Given the description of an element on the screen output the (x, y) to click on. 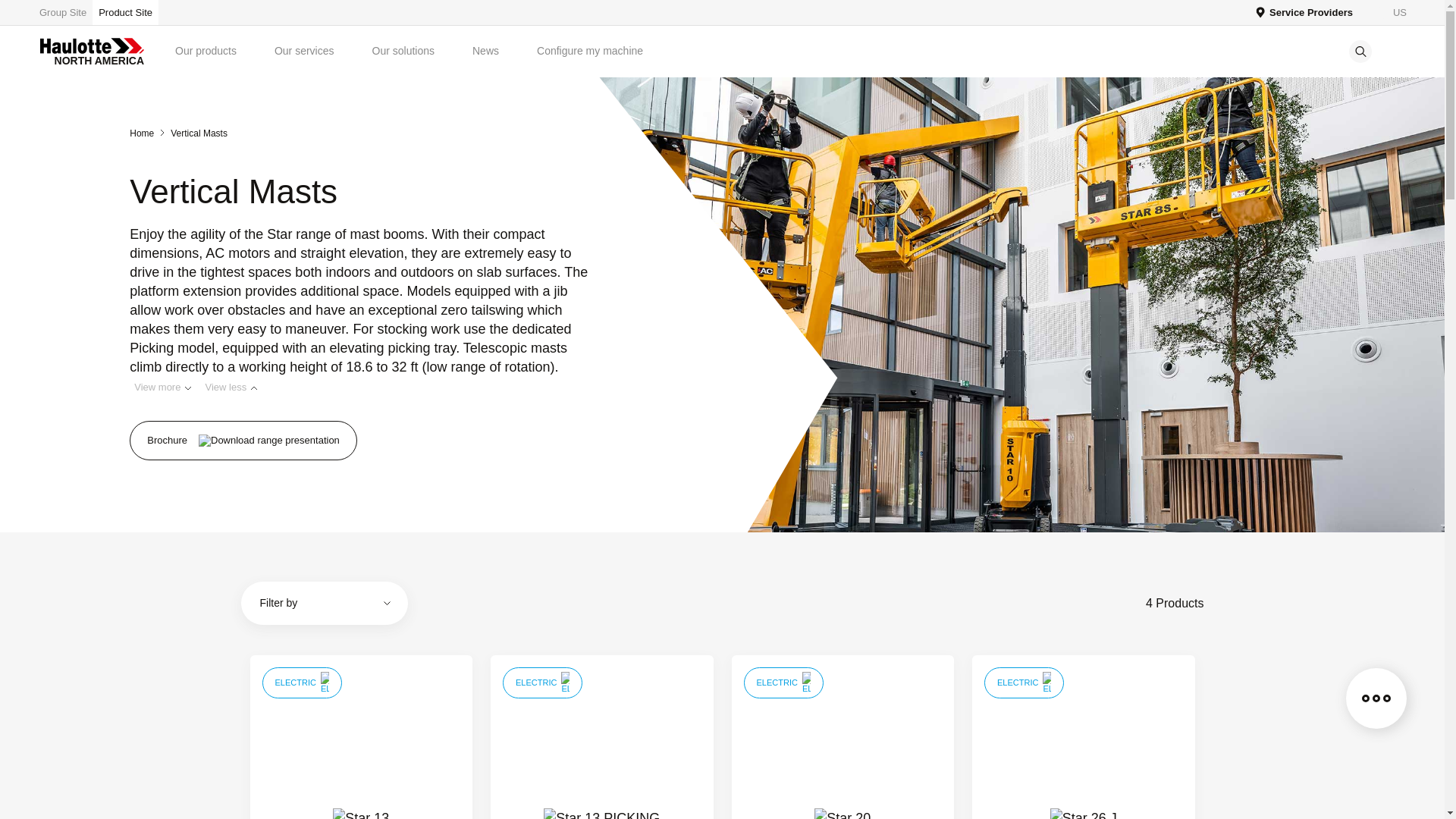
Configure my machine (590, 50)
Our services (304, 50)
Our products (205, 50)
Browse all products (66, 12)
News (485, 50)
Service Providers (1304, 12)
US (1390, 12)
Our solutions (402, 50)
